Given the description of an element on the screen output the (x, y) to click on. 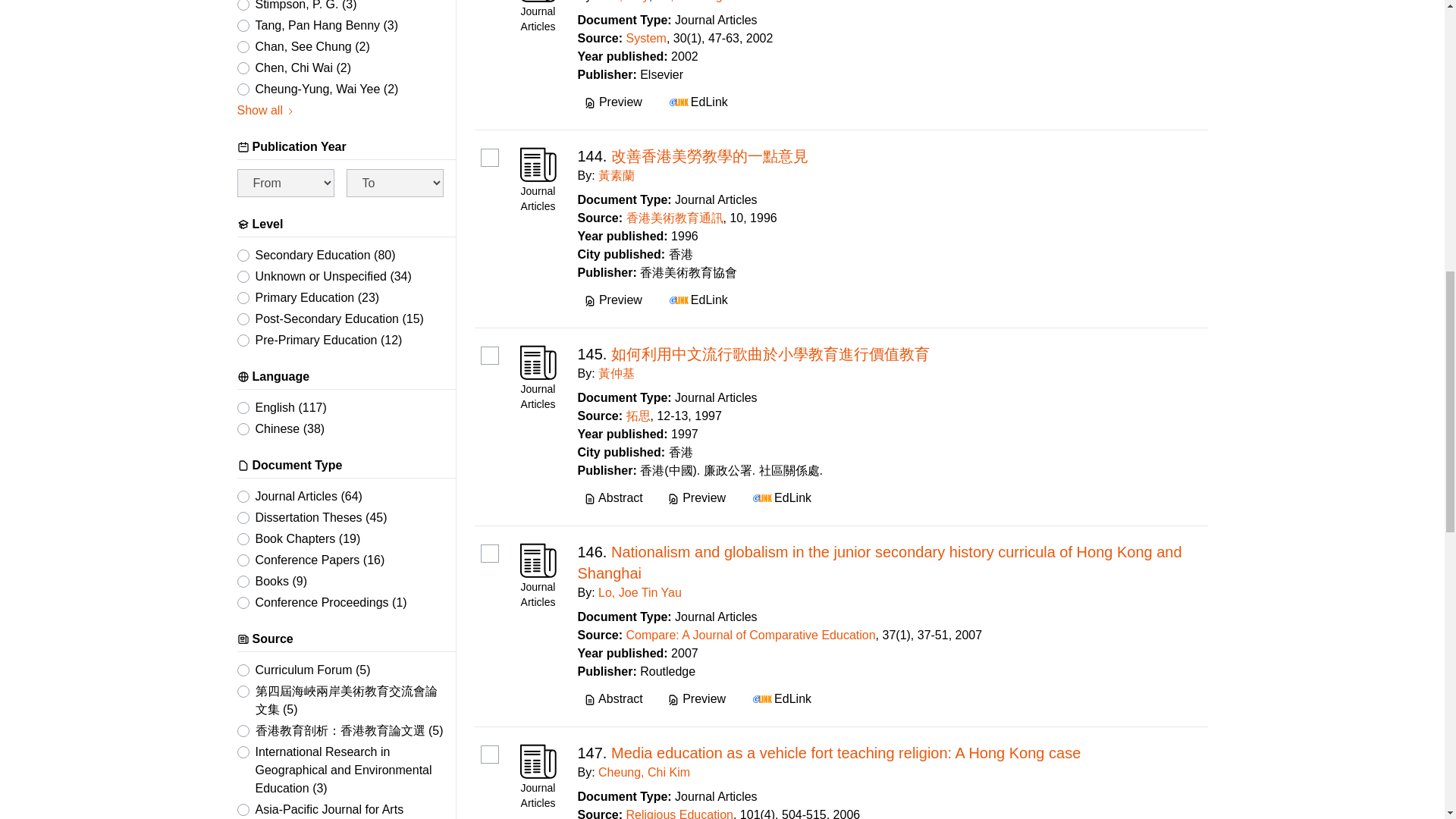
Show all (265, 110)
